Given the description of an element on the screen output the (x, y) to click on. 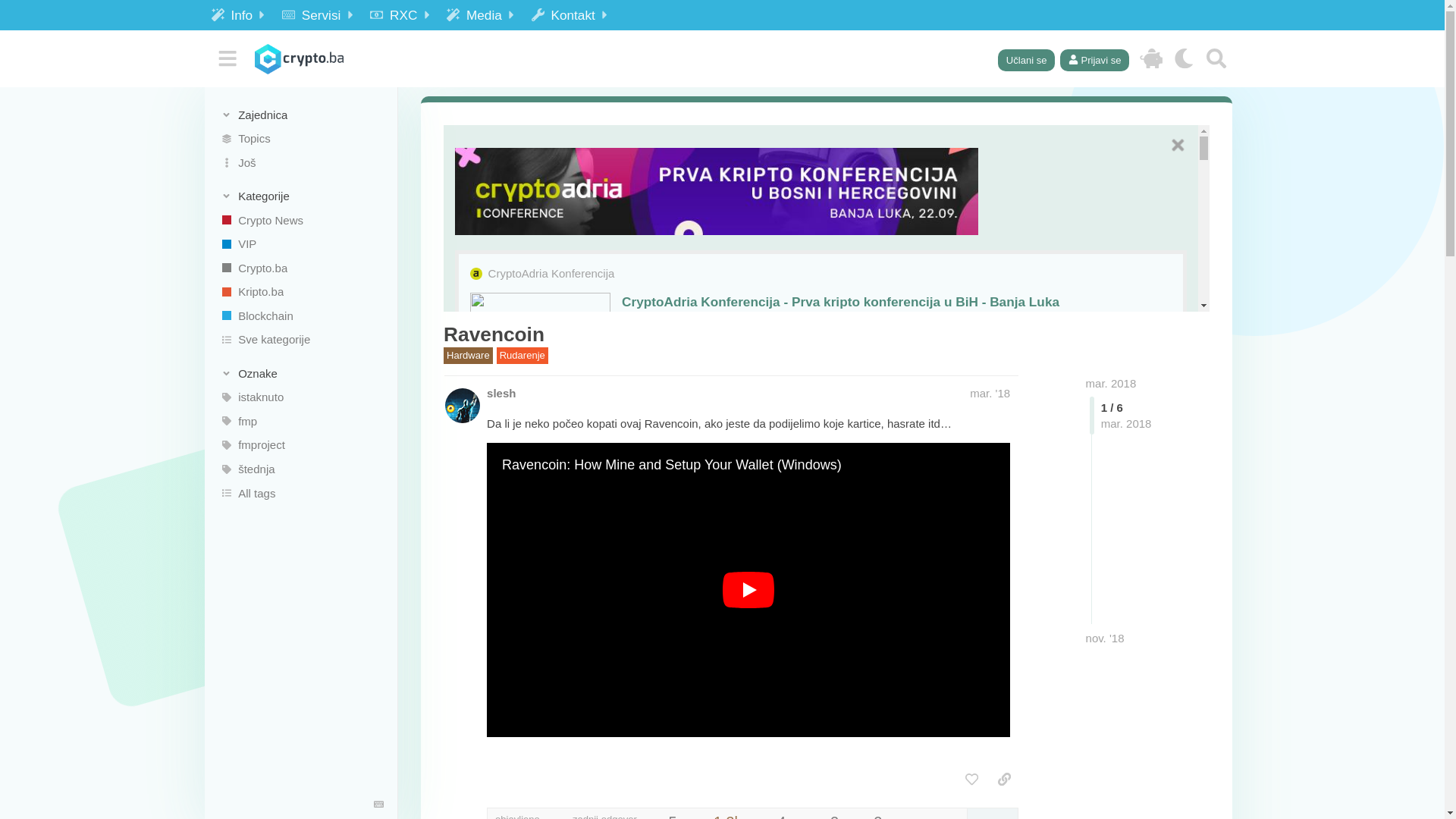
:point_right:t2: Element type: hover (462, 433)
Kratice tipkovnice Element type: hover (378, 804)
:point_right:t2: Element type: hover (462, 572)
:round_pushpin: Element type: hover (462, 605)
:pushpin: Element type: hover (462, 787)
slesh Element type: text (500, 393)
Topics Element type: text (300, 138)
Crypto News Element type: text (300, 219)
Rudarenje Element type: text (522, 355)
:point_right:t2: Element type: hover (462, 516)
nov. '18 Element type: text (1104, 638)
Hide sidebar Element type: hover (227, 58)
Kategorije Element type: text (301, 195)
Media Element type: text (481, 15)
istaknuto Element type: text (300, 397)
Ravencoin Element type: text (493, 334)
Lajkuj objavu Element type: hover (971, 779)
Servisi Element type: text (319, 15)
:round_pushpin: Element type: hover (462, 633)
fmp Element type: text (300, 421)
Zajednica Element type: text (301, 114)
Hardware Element type: text (467, 355)
:pushpin: Element type: hover (462, 661)
Prijavi se Element type: text (1094, 59)
:point_right:t2: Element type: hover (462, 405)
Blockchain Element type: text (300, 316)
:round_pushpin: Element type: hover (462, 588)
:pushpin: Element type: hover (462, 544)
Crypto.ba Element type: text (300, 268)
Kontakt Element type: text (571, 15)
mar. '18 Element type: text (989, 392)
fmproject Element type: text (300, 445)
Oznake Element type: text (301, 372)
Kripto.ba Element type: text (300, 291)
RXC Element type: text (402, 15)
IMG_20230727_235519_519 Element type: hover (716, 191)
Sve kategorije Element type: text (300, 339)
VIP Element type: text (300, 244)
CryptoAdria Konferencija Element type: text (551, 273)
podijeli link do ovog posta Element type: hover (1004, 779)
All tags Element type: text (300, 492)
RXC Coin Element type: hover (1151, 58)
Info Element type: text (239, 15)
Ravencoin: How Mine and Setup Your Wallet (Windows) Element type: text (671, 464)
mar. 2018 Element type: text (1110, 382)
